Given the description of an element on the screen output the (x, y) to click on. 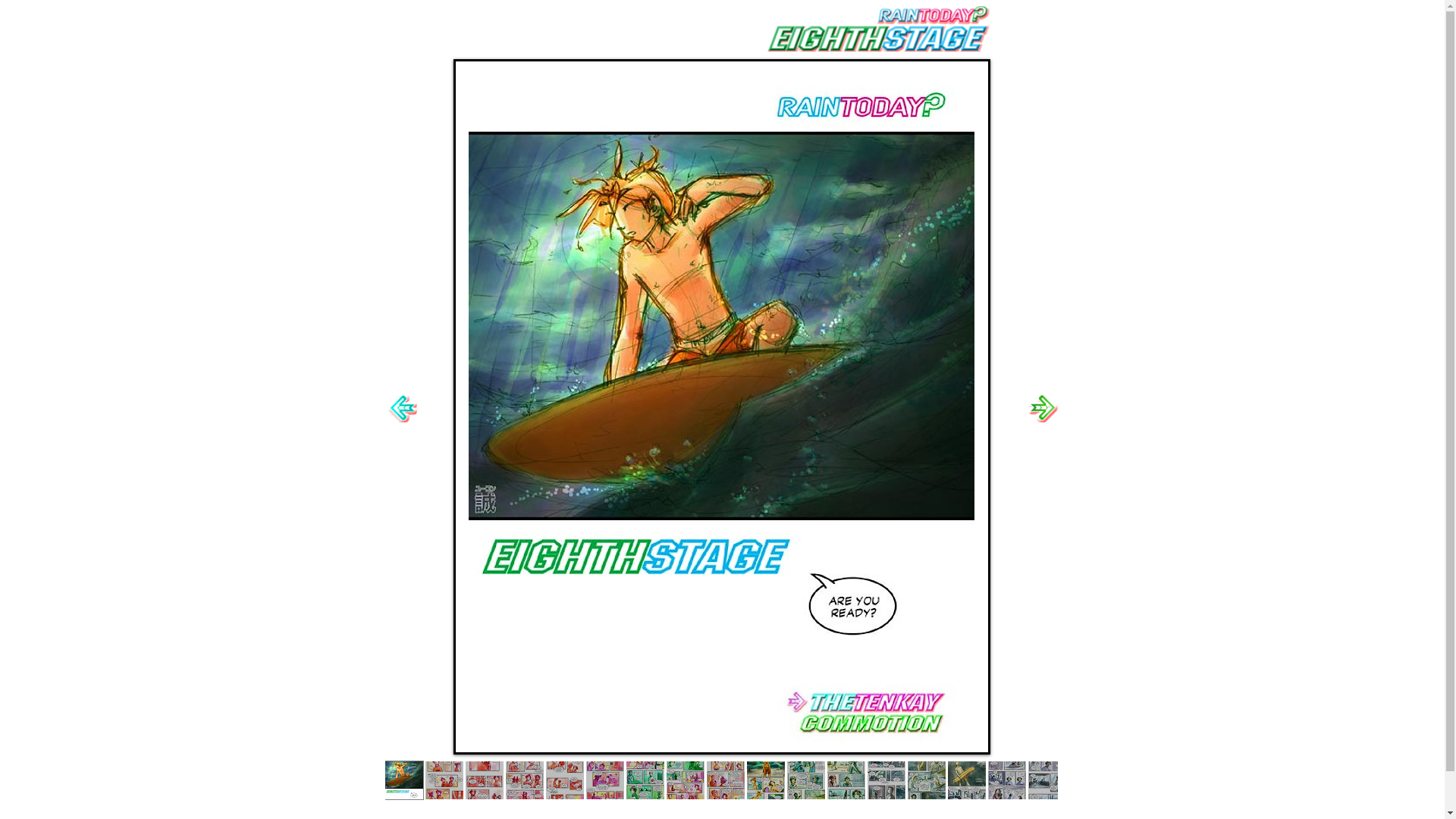
8thSTAGEtitle.gif Element type: hover (877, 28)
